Given the description of an element on the screen output the (x, y) to click on. 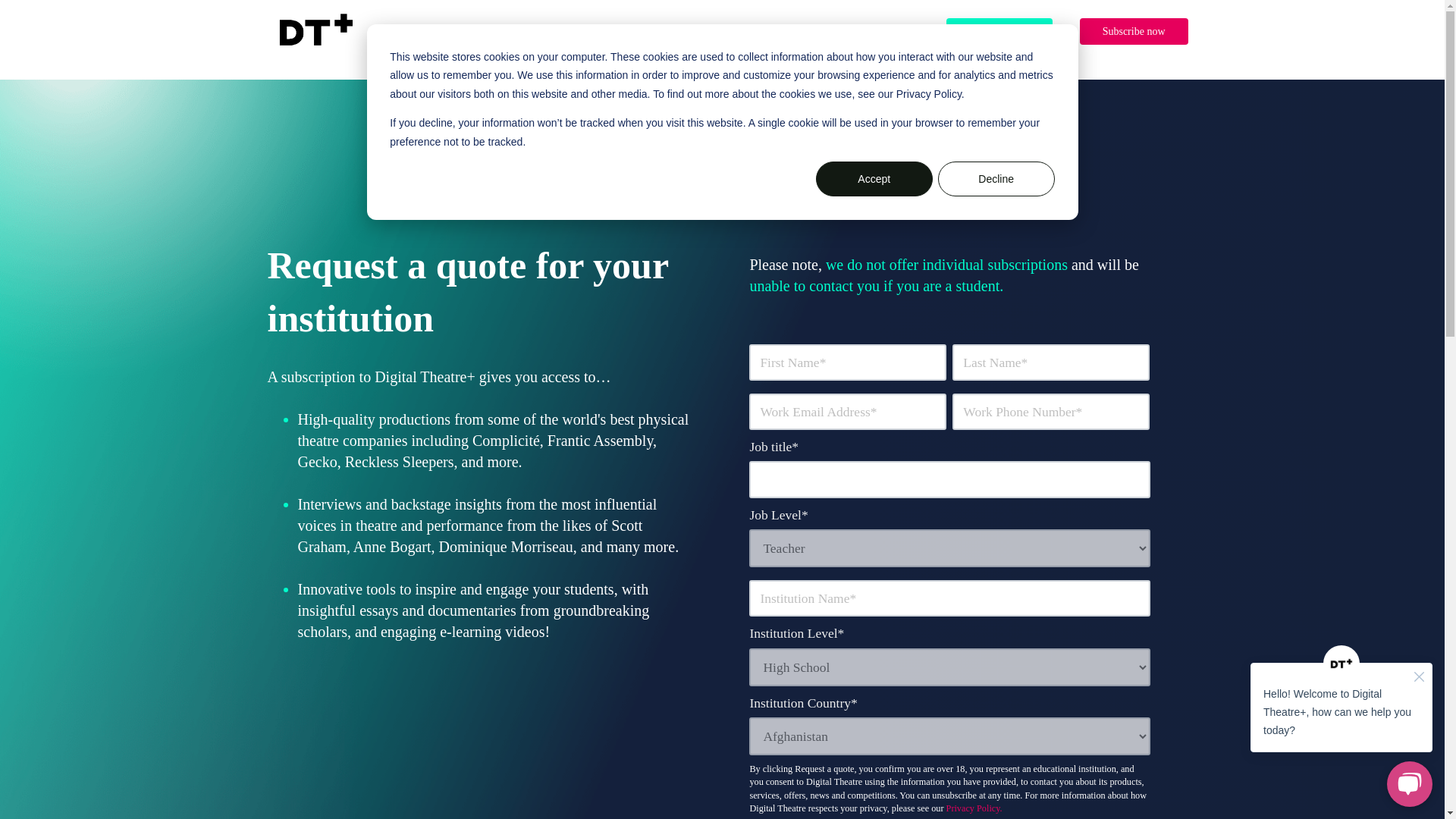
Discover (481, 30)
Middle Schools (560, 30)
